Given the description of an element on the screen output the (x, y) to click on. 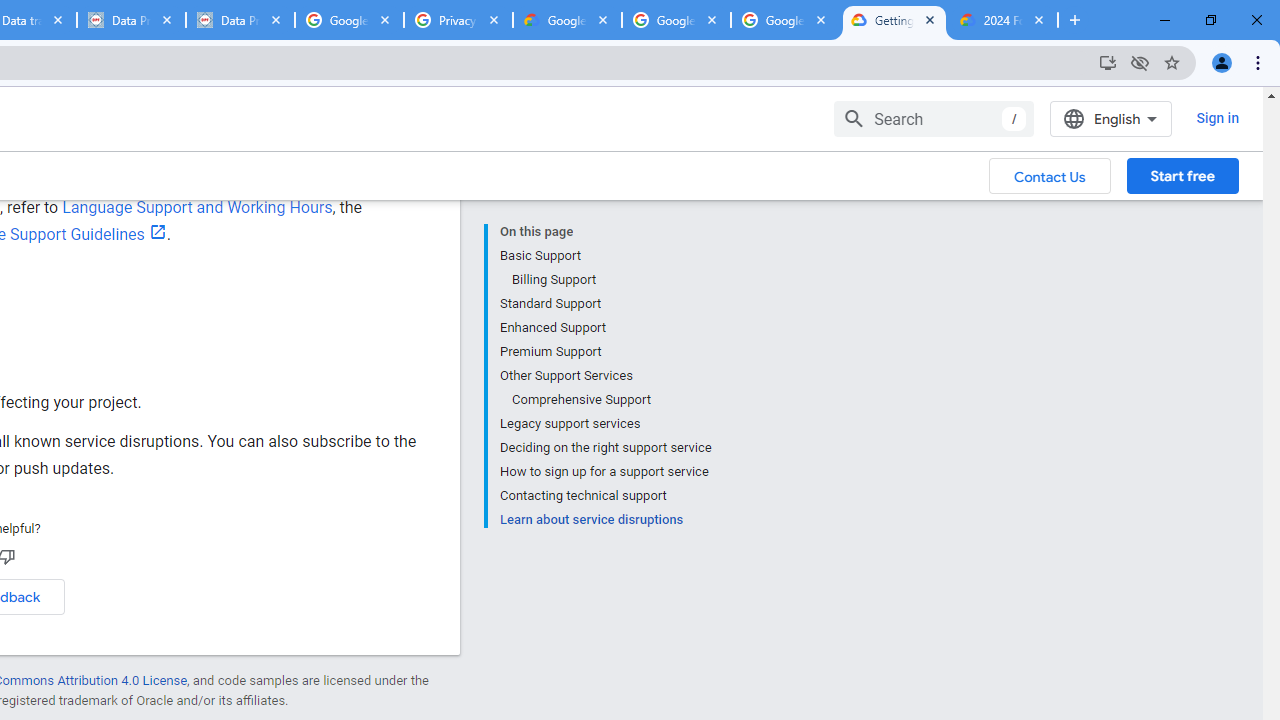
Comprehensive Support (610, 399)
Google Cloud Terms Directory | Google Cloud (567, 20)
Premium Support (605, 351)
Basic Support (605, 255)
